Given the description of an element on the screen output the (x, y) to click on. 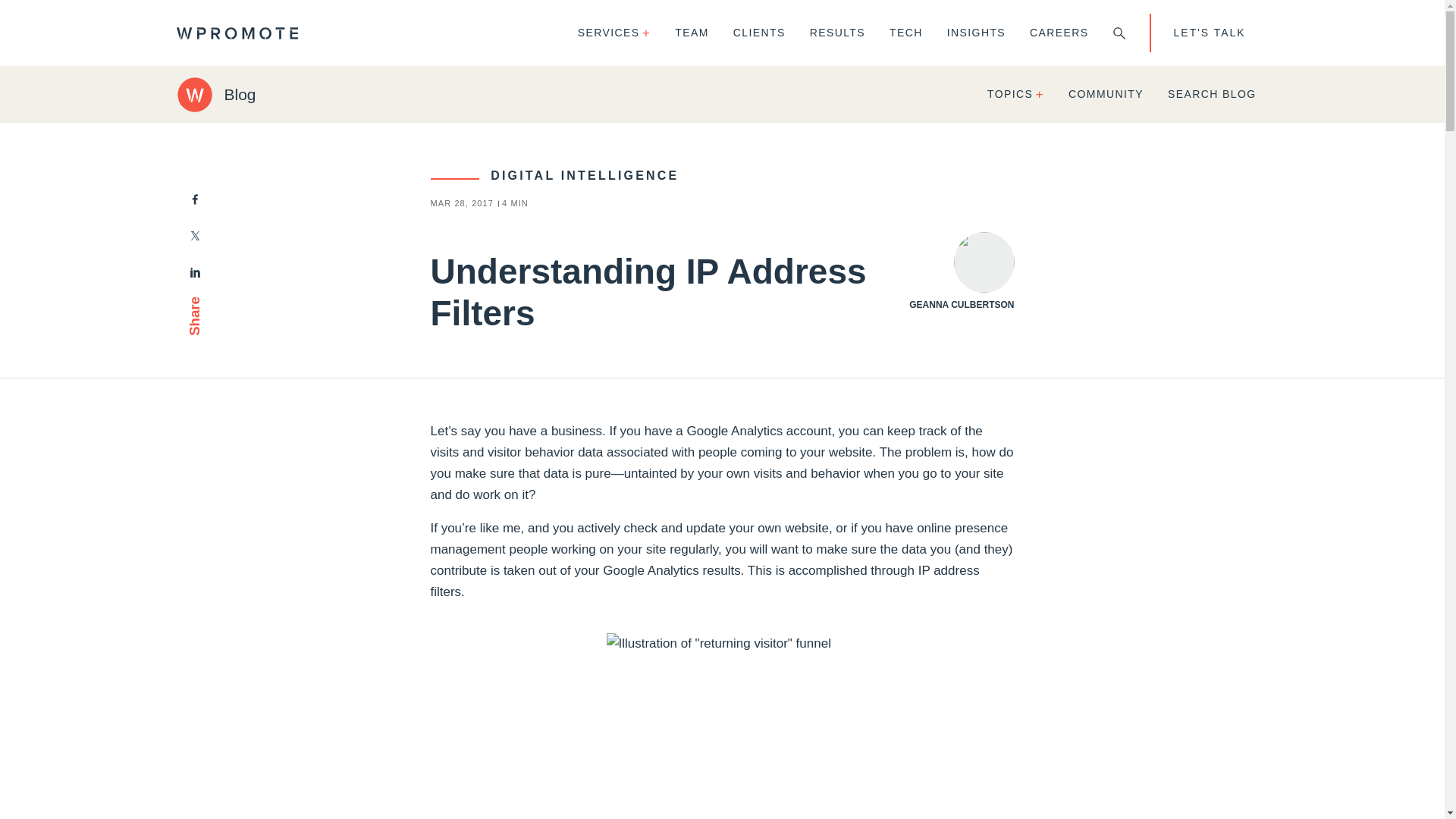
CAREERS (1058, 33)
COMMUNITY (1106, 93)
DIGITAL INTELLIGENCE (554, 174)
Blog (216, 94)
INSIGHTS (975, 33)
RESULTS (837, 33)
LET'S TALK (1209, 32)
SERVICES (614, 33)
TECH (905, 33)
GEANNA CULBERTSON (960, 271)
TOPICS (1016, 93)
SEARCH BLOG (1212, 93)
TEAM (691, 33)
CLIENTS (758, 33)
